Given the description of an element on the screen output the (x, y) to click on. 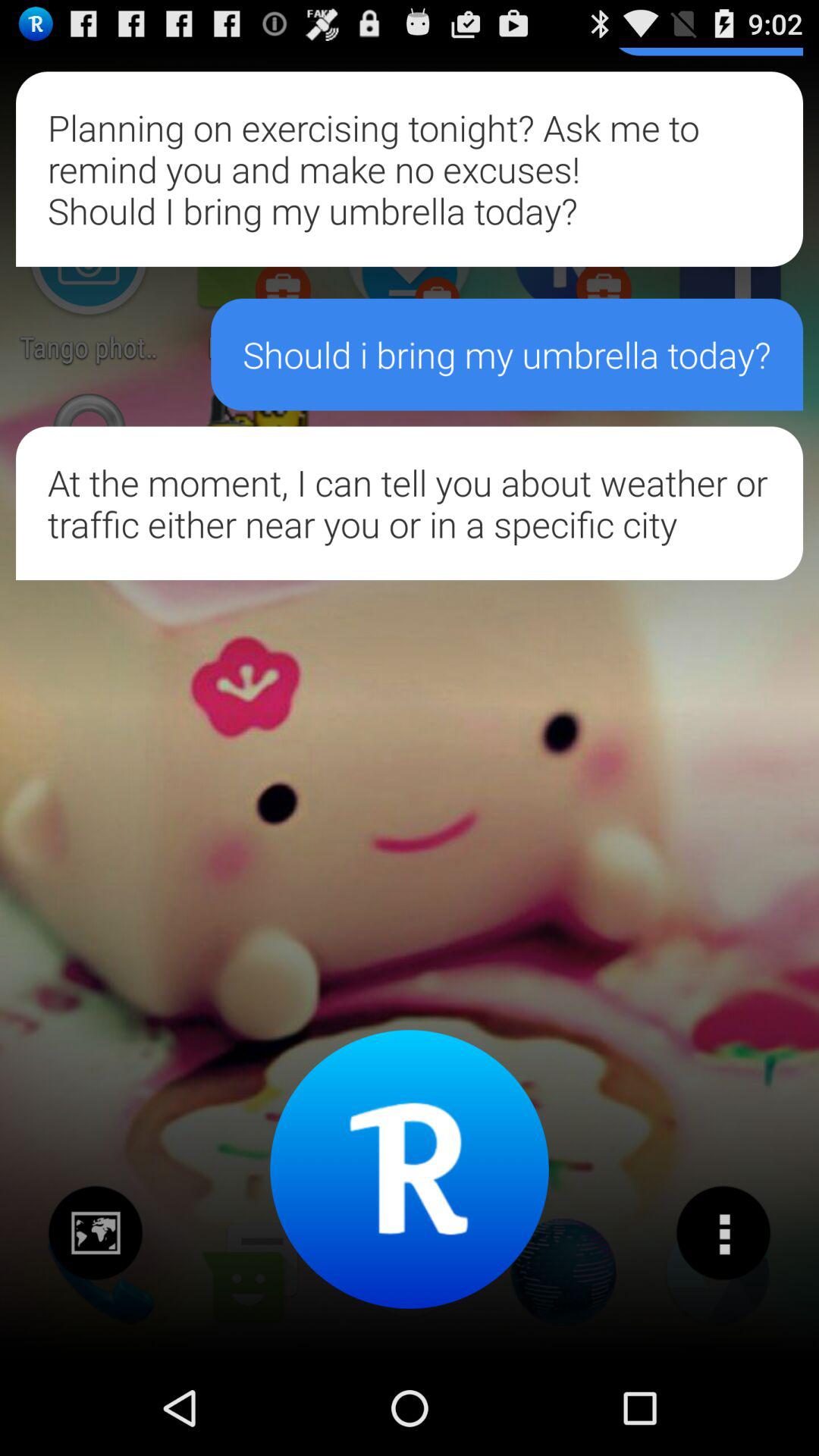
switch to many options (723, 1232)
